Given the description of an element on the screen output the (x, y) to click on. 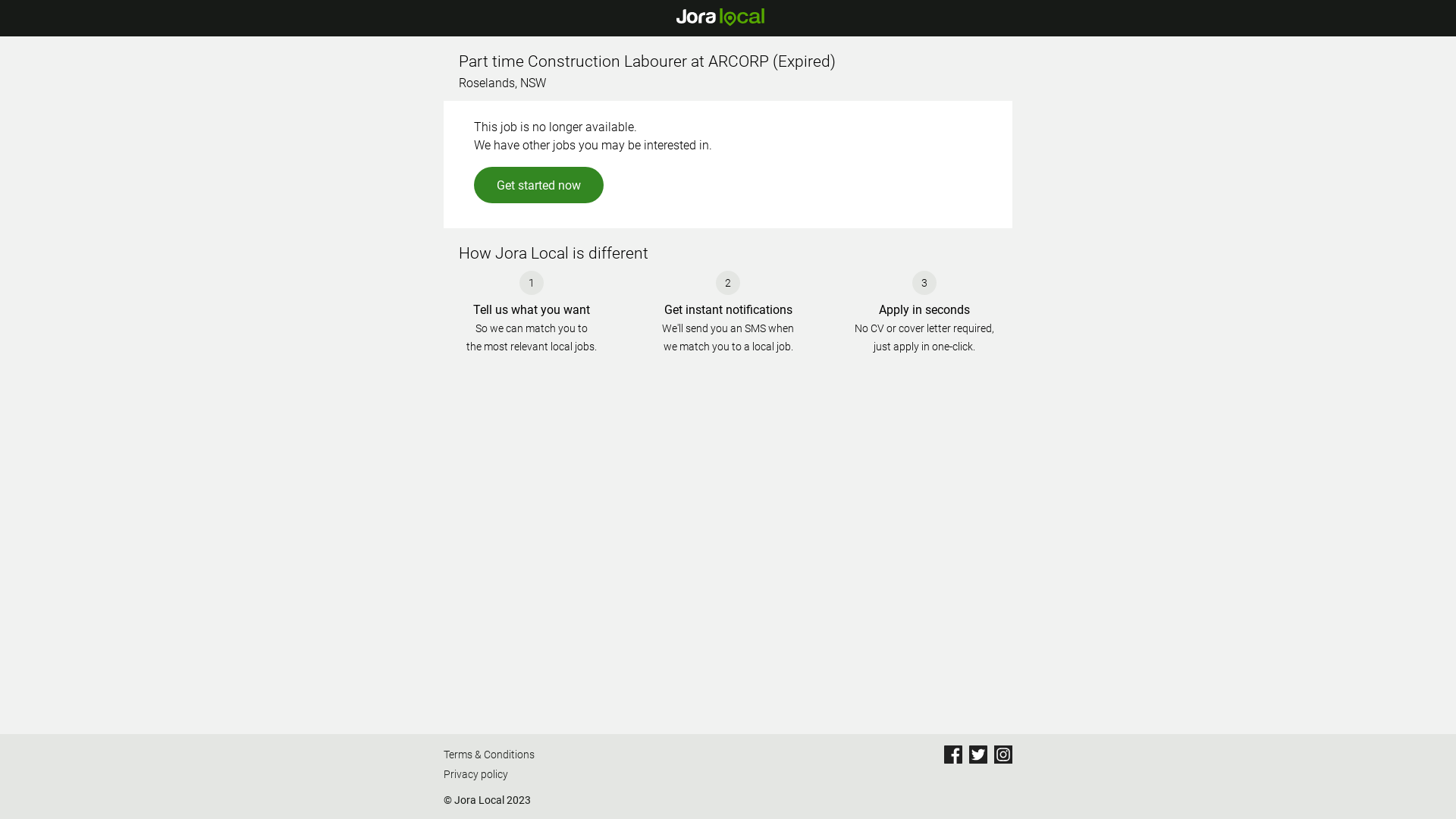
Terms & Conditions Element type: text (488, 755)
Privacy policy Element type: text (488, 774)
Facebook Element type: text (953, 754)
Get started now Element type: text (538, 184)
Instagram Element type: text (1003, 754)
Jora Local Element type: text (720, 17)
Twitter Element type: text (978, 754)
